Given the description of an element on the screen output the (x, y) to click on. 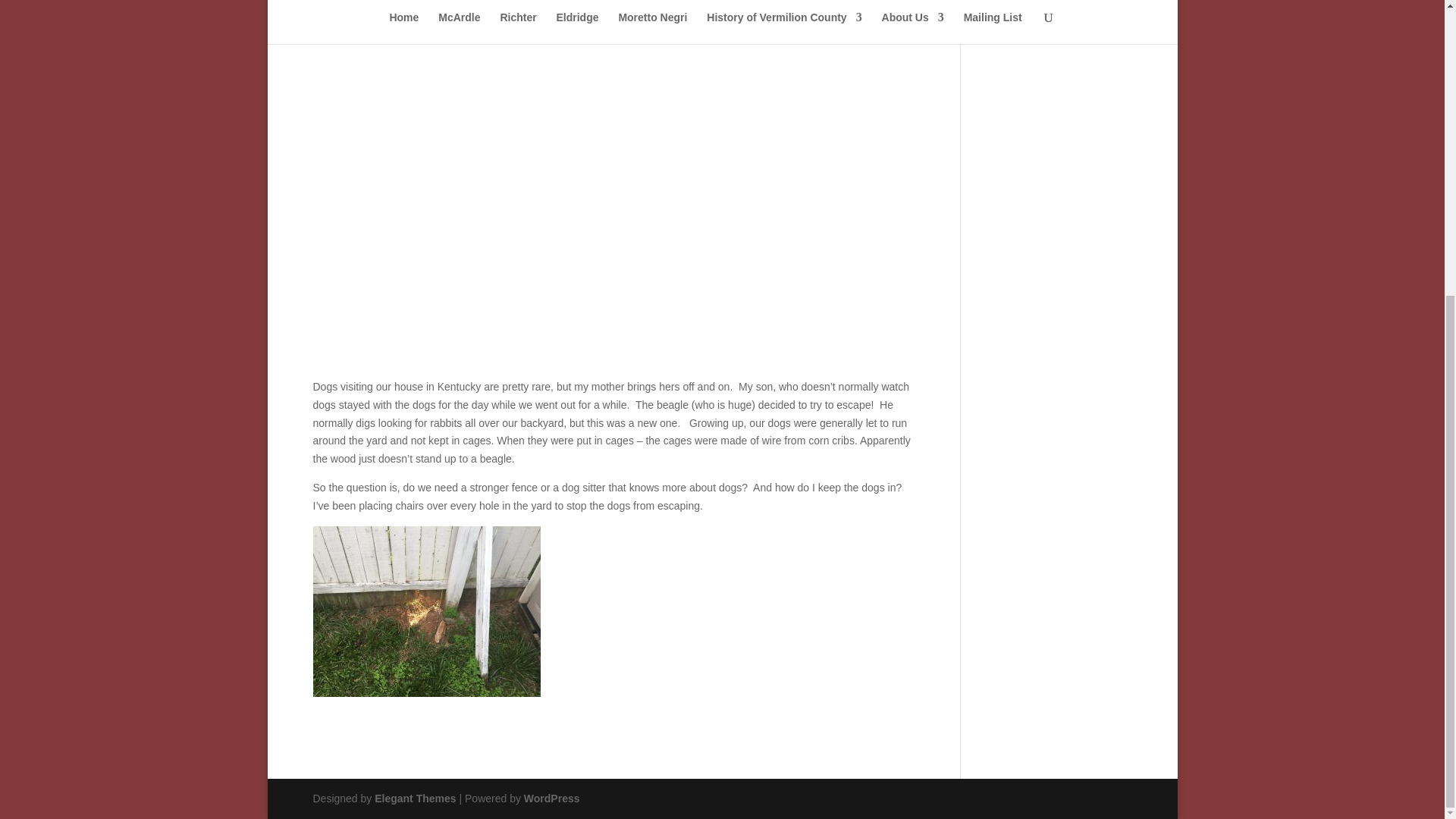
Elegant Themes (414, 798)
Premium WordPress Themes (414, 798)
WordPress (551, 798)
